Given the description of an element on the screen output the (x, y) to click on. 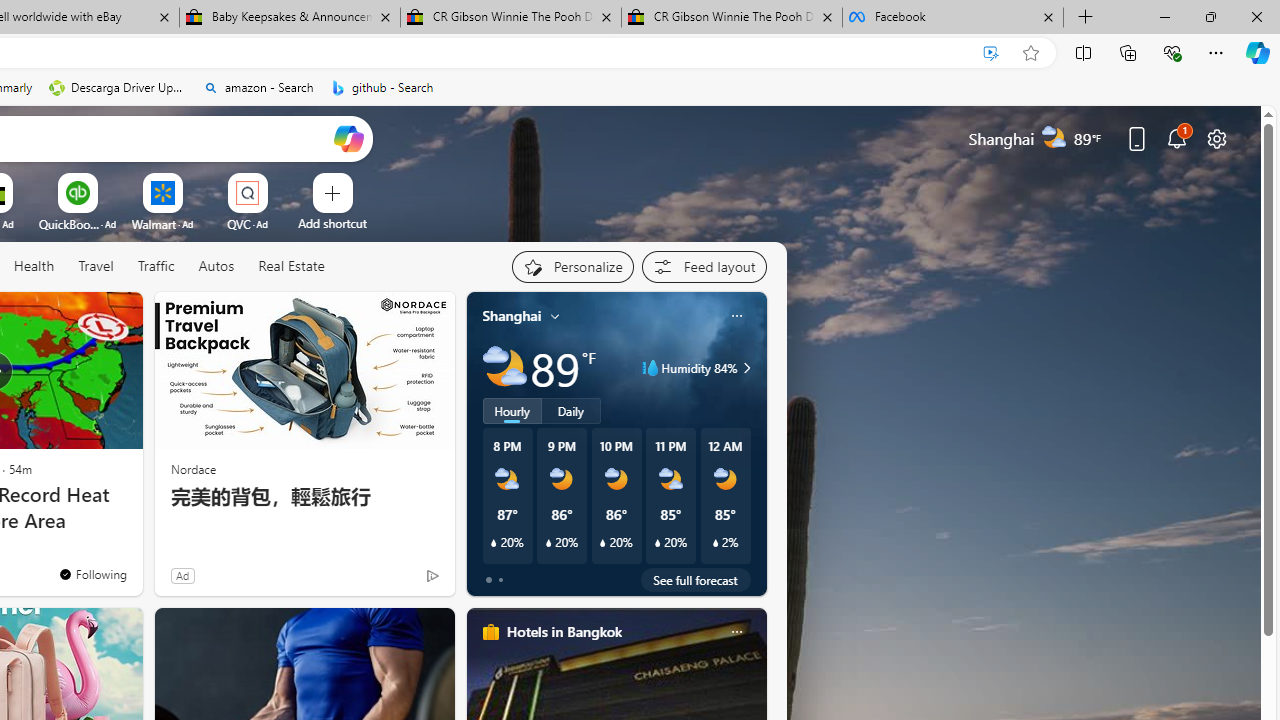
Partly cloudy (504, 368)
